Given the description of an element on the screen output the (x, y) to click on. 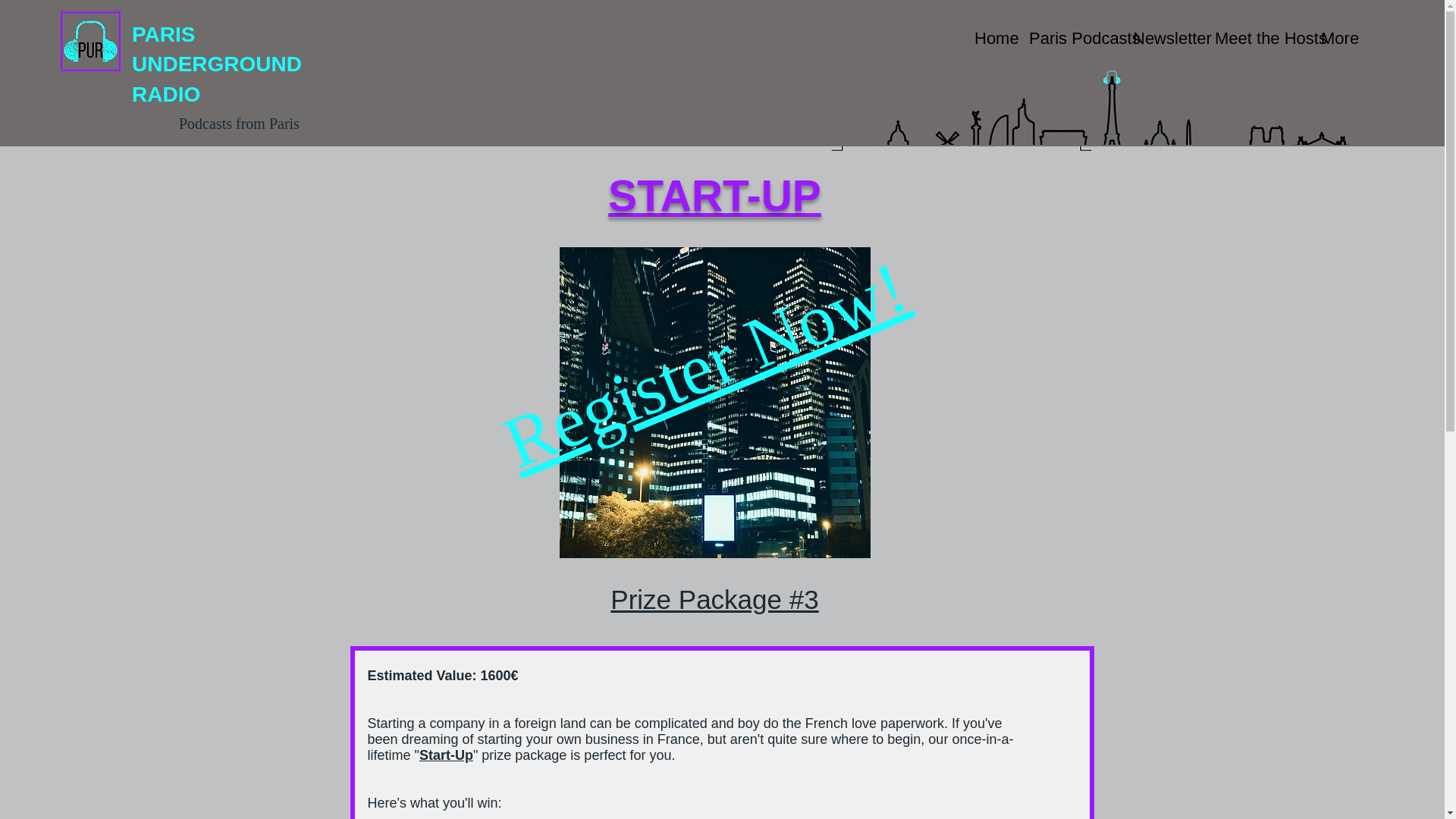
Paris Podcasts (1069, 38)
Newsletter (1162, 38)
Meet the Hosts (1256, 38)
Podcasts from Paris (239, 123)
PARIS UNDERGROUND RADIO (216, 64)
Home (989, 38)
